Given the description of an element on the screen output the (x, y) to click on. 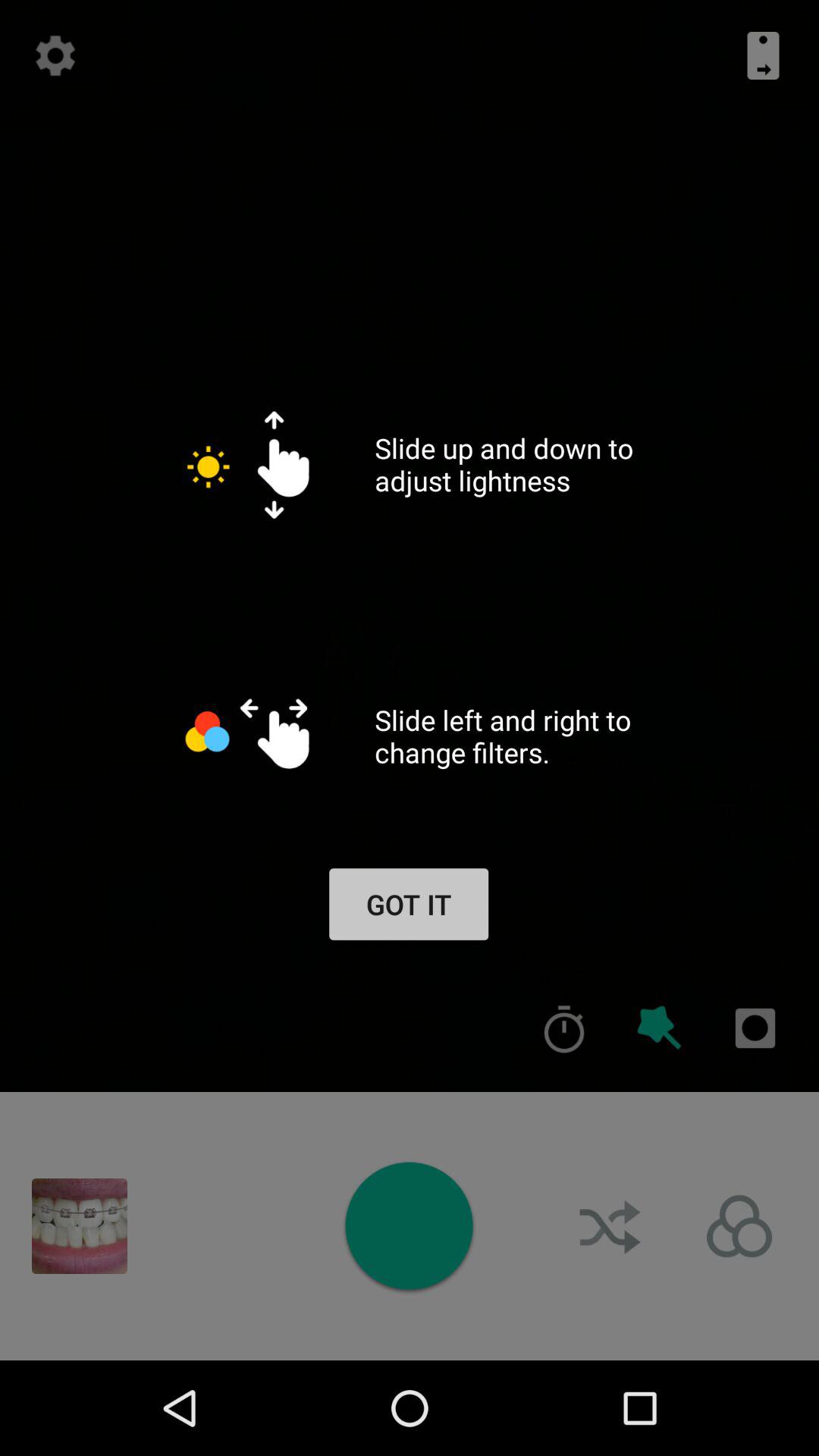
an icon of teeth with braces on them (79, 1226)
